Given the description of an element on the screen output the (x, y) to click on. 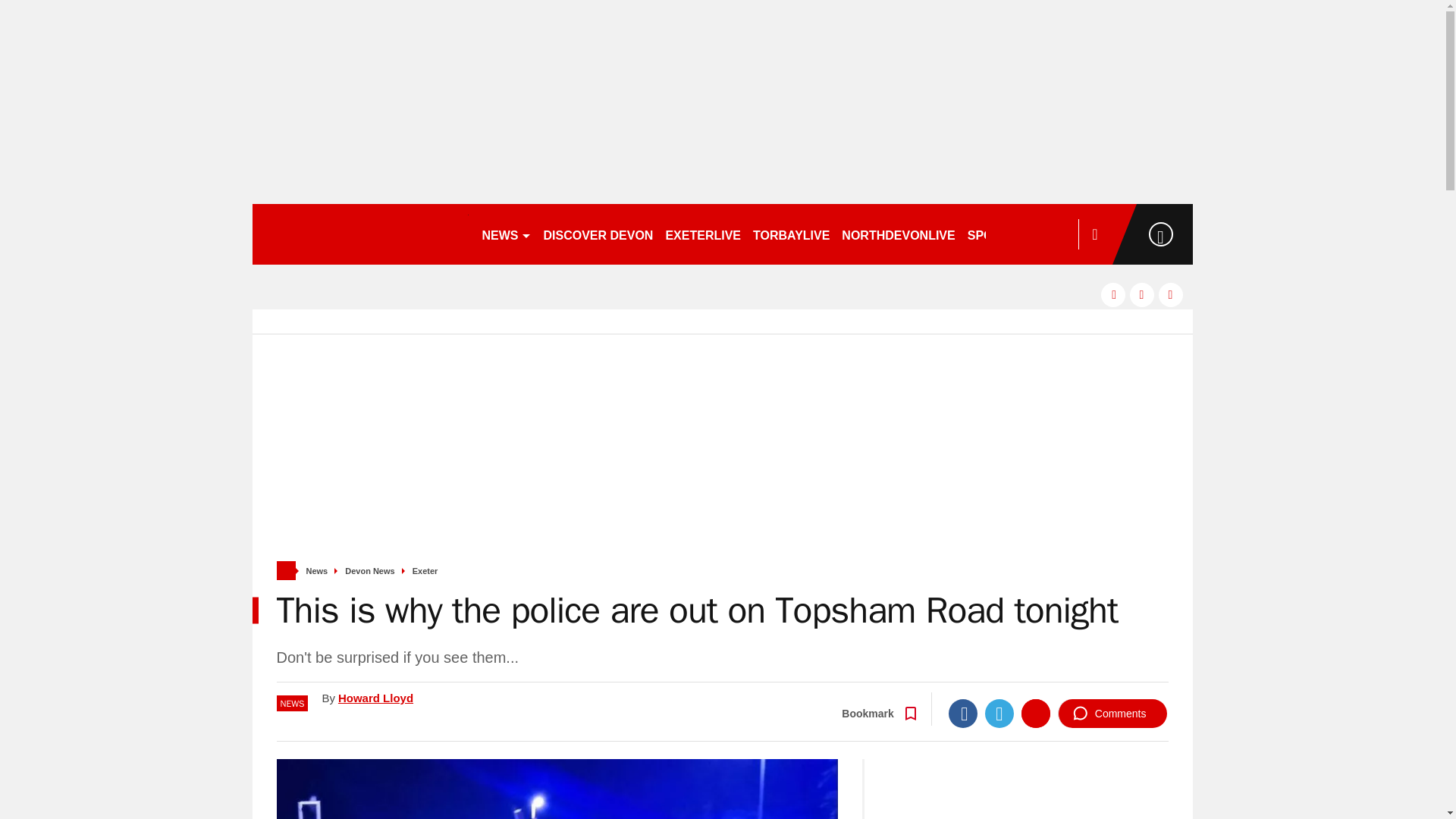
devonlive (359, 233)
facebook (1112, 294)
Comments (1112, 713)
DISCOVER DEVON (598, 233)
Facebook (962, 713)
SPORT (993, 233)
NORTHDEVONLIVE (897, 233)
twitter (1141, 294)
instagram (1170, 294)
EXETERLIVE (702, 233)
NEWS (506, 233)
Twitter (999, 713)
TORBAYLIVE (790, 233)
